Given the description of an element on the screen output the (x, y) to click on. 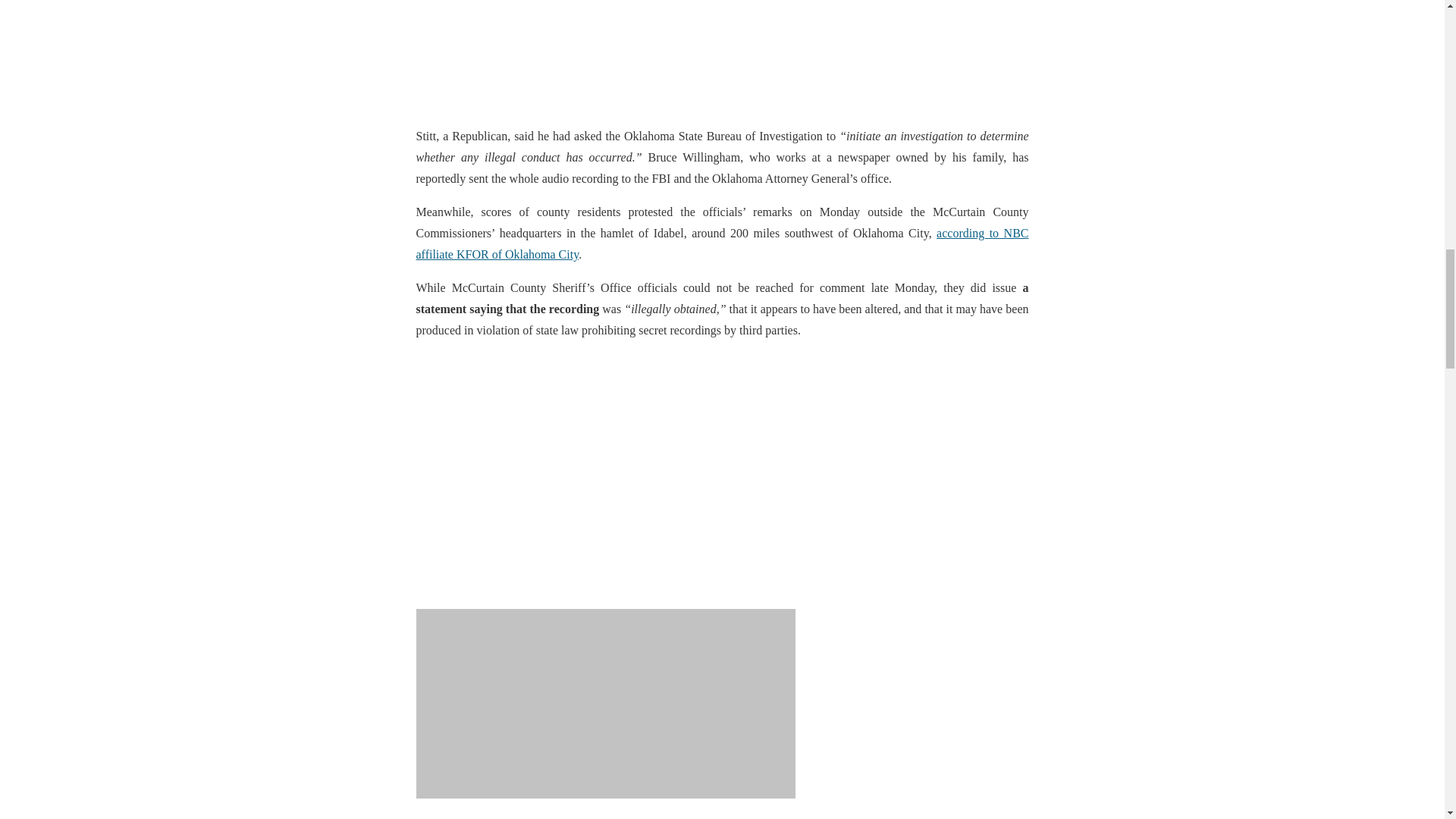
according to NBC affiliate KFOR of Oklahoma City (720, 243)
3rd party ad content (720, 56)
